Given the description of an element on the screen output the (x, y) to click on. 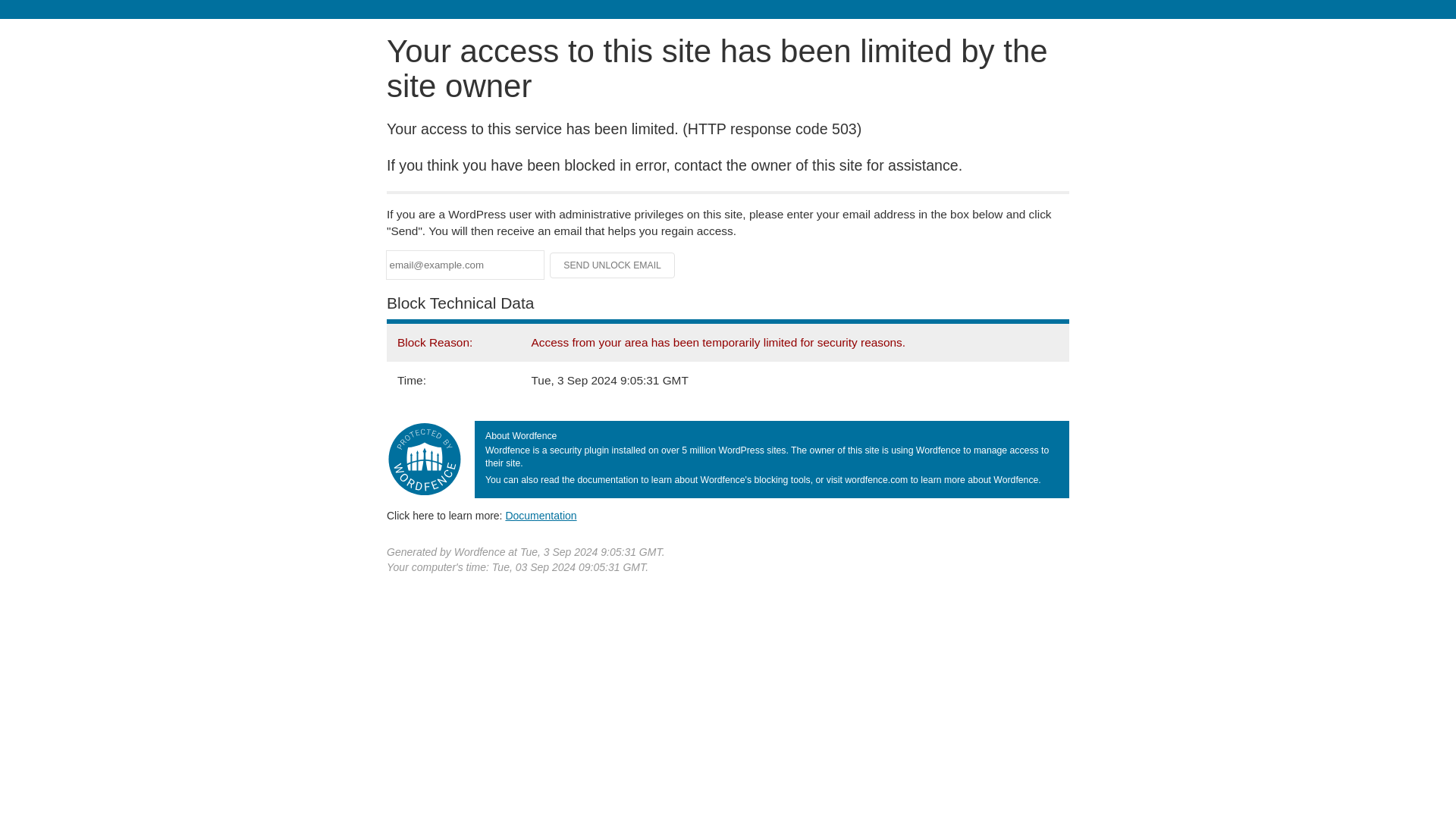
Send Unlock Email (612, 265)
Documentation (540, 515)
Send Unlock Email (612, 265)
